Given the description of an element on the screen output the (x, y) to click on. 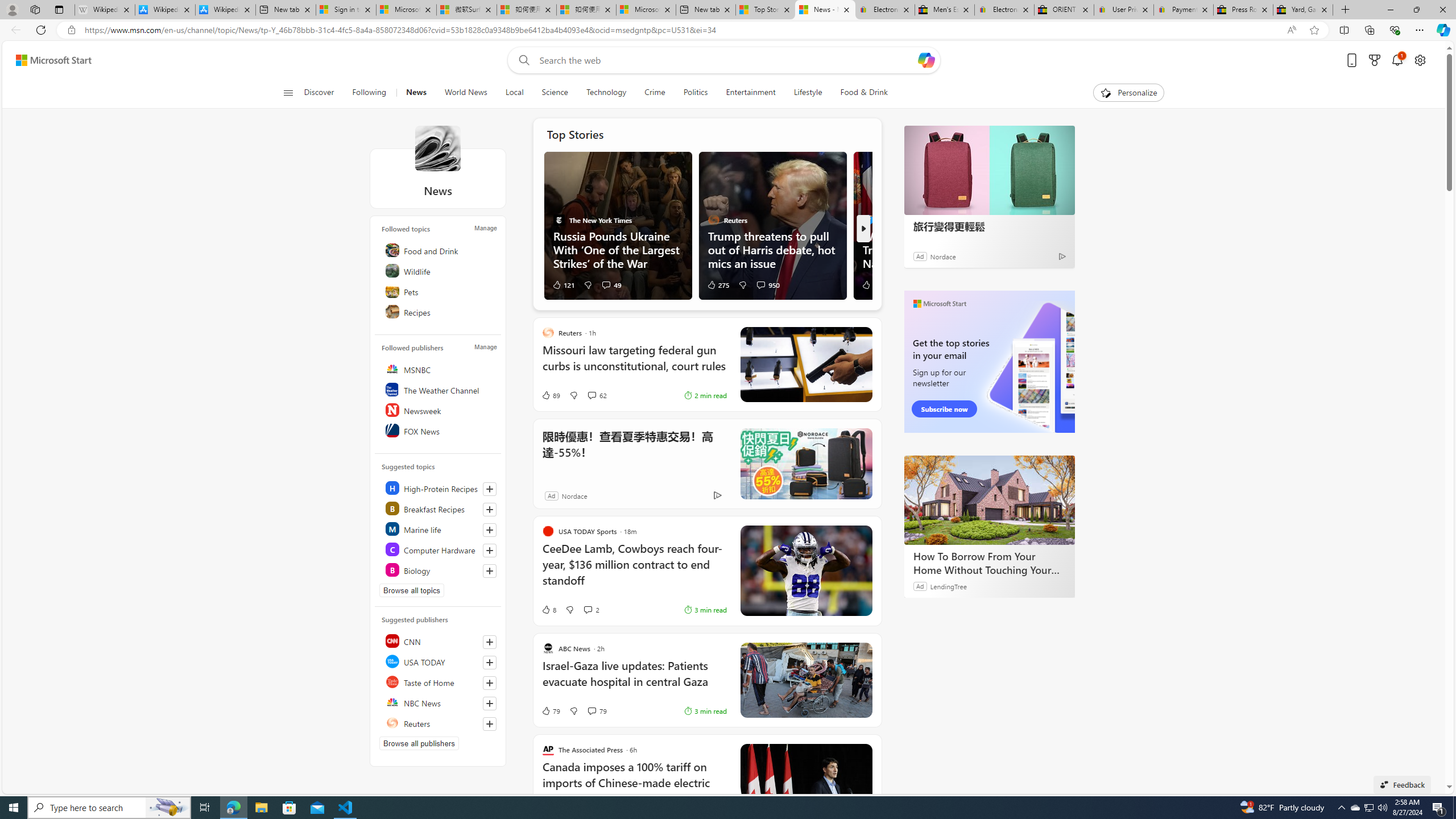
News (437, 148)
World News (465, 92)
79 Like (549, 710)
Payments Terms of Use | eBay.com (1183, 9)
Microsoft account | Account Checkup (646, 9)
275 Like (717, 284)
Ad (551, 495)
Science (554, 92)
NBC News (439, 702)
Local (514, 92)
Follow this topic (489, 570)
